Given the description of an element on the screen output the (x, y) to click on. 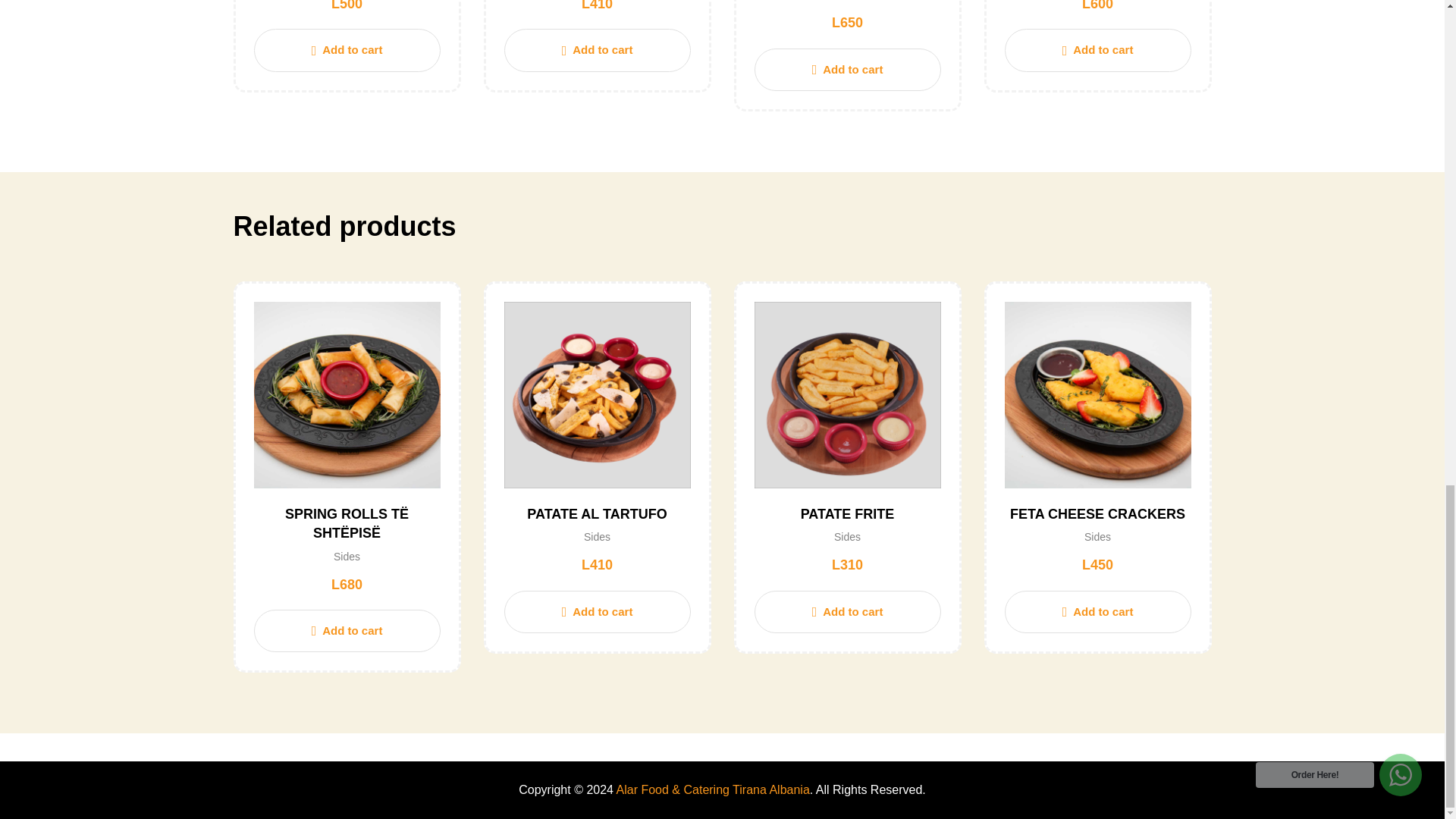
Add to cart (596, 50)
Add to cart (346, 50)
